Given the description of an element on the screen output the (x, y) to click on. 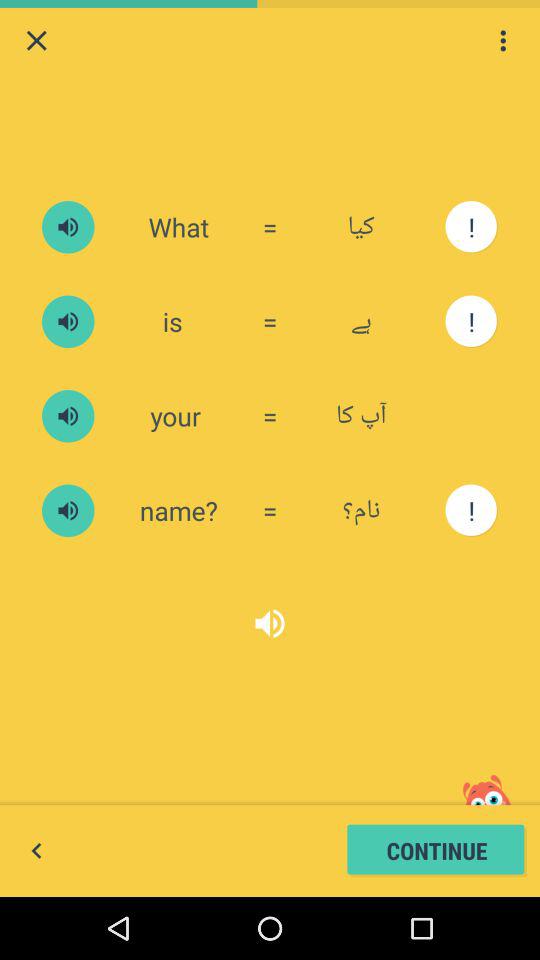
sound button (68, 510)
